Given the description of an element on the screen output the (x, y) to click on. 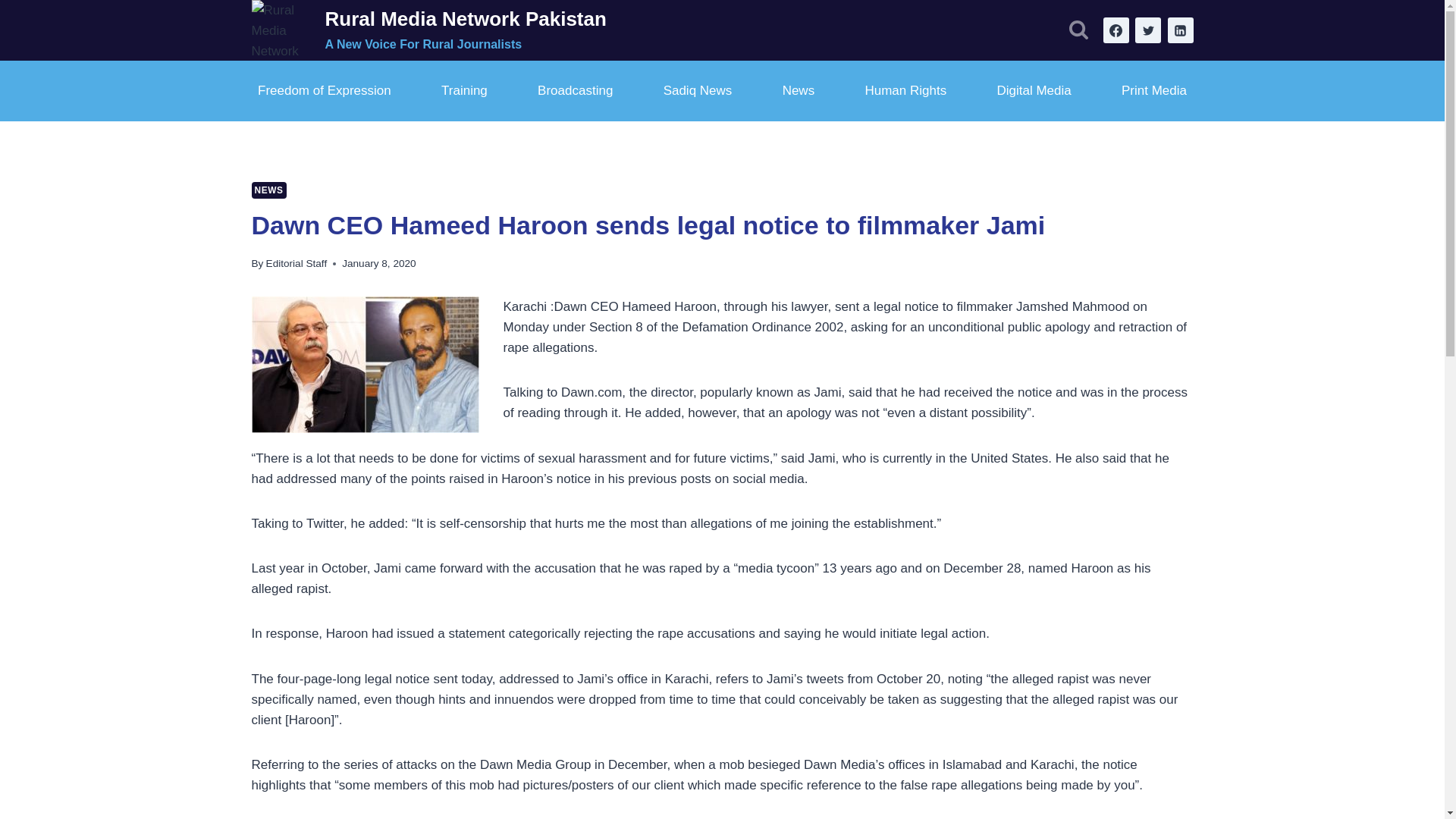
Broadcasting (575, 90)
Sadiq News (697, 90)
Editorial Staff (296, 263)
Human Rights (906, 90)
News (798, 90)
Digital Media (1033, 90)
NEWS (268, 190)
Print Media (1153, 90)
Freedom of Expression (324, 90)
Training (465, 90)
